Given the description of an element on the screen output the (x, y) to click on. 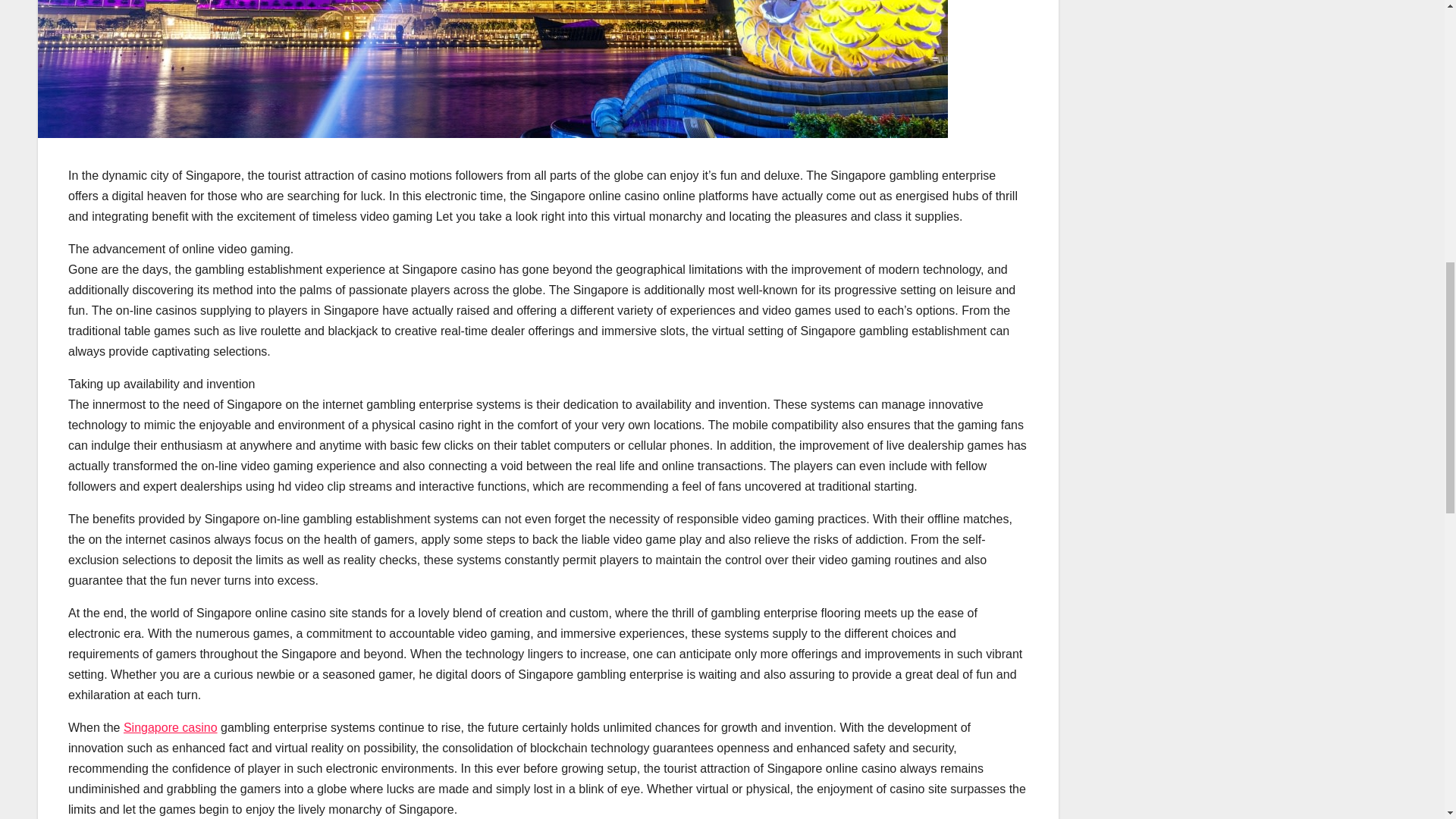
Singapore casino (169, 727)
